Given the description of an element on the screen output the (x, y) to click on. 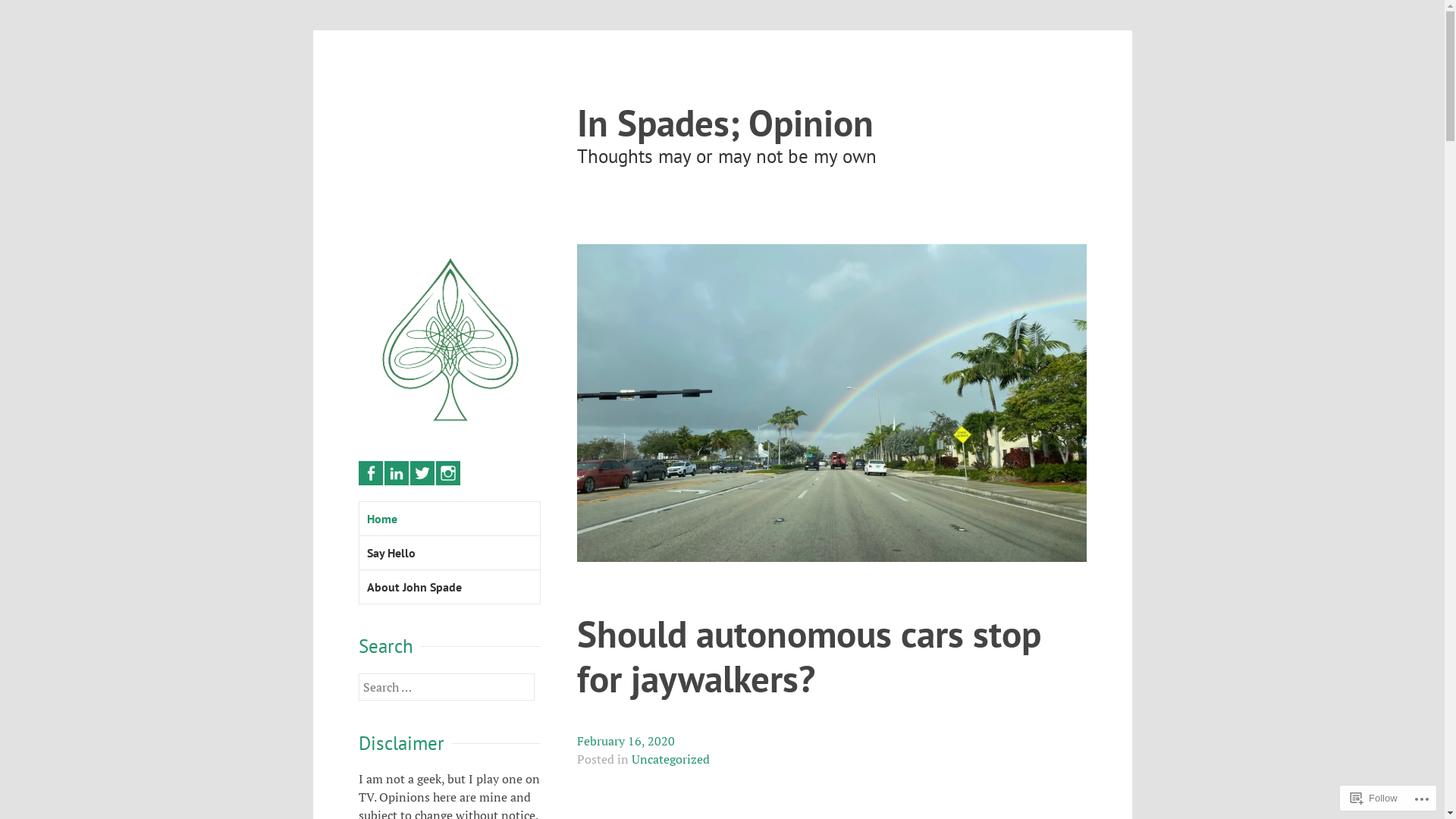
Should autonomous cars stop for jaywalkers? Element type: text (808, 657)
About John Spade Element type: text (449, 587)
Say Hello Element type: text (449, 553)
Uncategorized Element type: text (669, 759)
Home Element type: text (449, 519)
In Spades; Opinion Element type: text (724, 122)
February 16, 2020 Element type: text (625, 740)
Follow Element type: text (1373, 797)
